Given the description of an element on the screen output the (x, y) to click on. 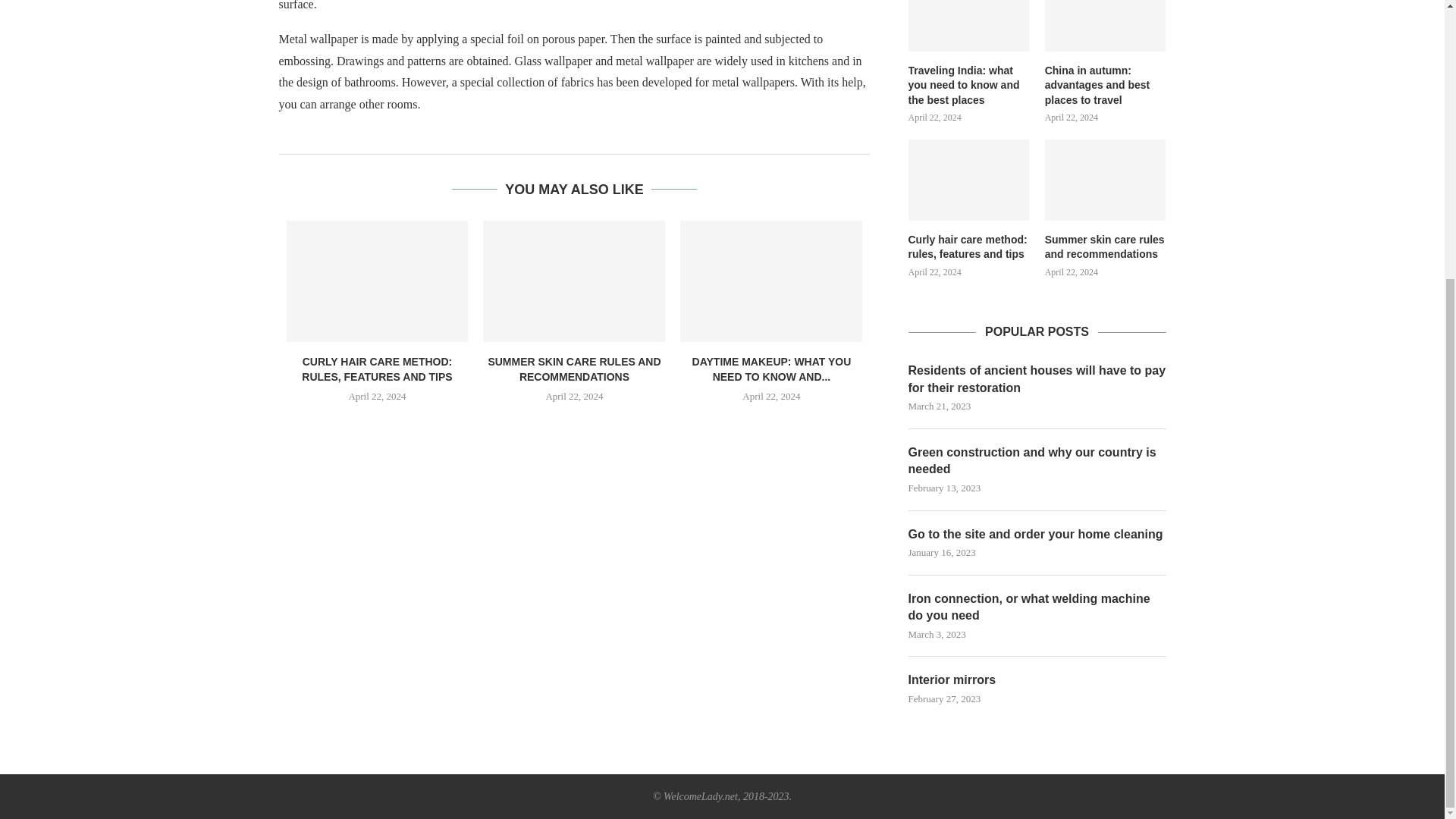
Curly hair care method: rules, features and tips (968, 247)
Summer skin care rules and recommendations (574, 281)
Curly hair care method: rules, features and tips (377, 281)
Summer skin care rules and recommendations (1105, 247)
Traveling India: what you need to know and the best places (968, 85)
Curly hair care method: rules, features and tips (968, 179)
China in autumn: advantages and best places to travel (1105, 85)
Daytime makeup: what you need to know and rules (770, 281)
Summer skin care rules and recommendations (1105, 179)
